Given the description of an element on the screen output the (x, y) to click on. 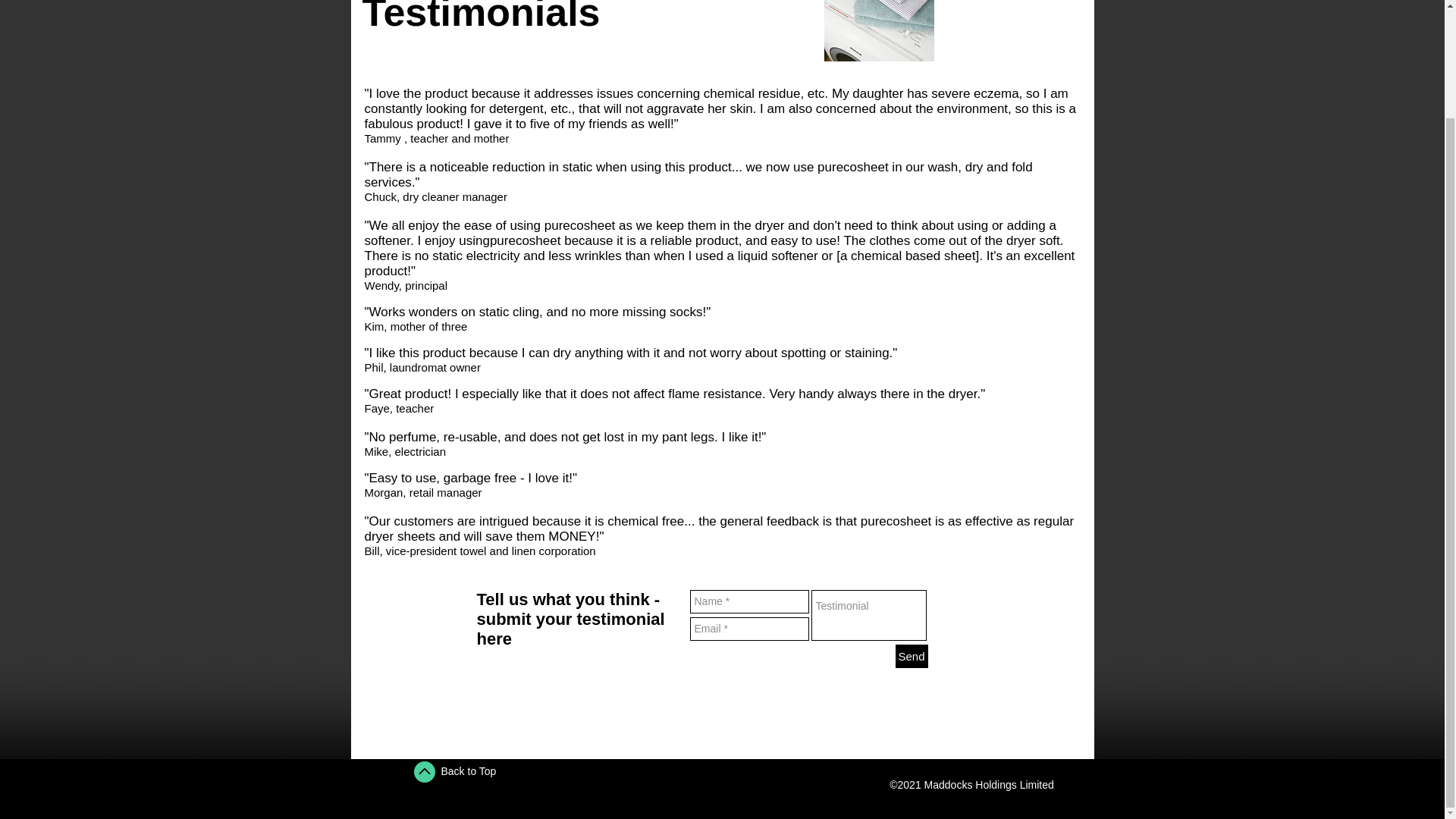
Back to Top (468, 770)
Send (911, 656)
Scott Jan08 073.jpg (878, 30)
